Given the description of an element on the screen output the (x, y) to click on. 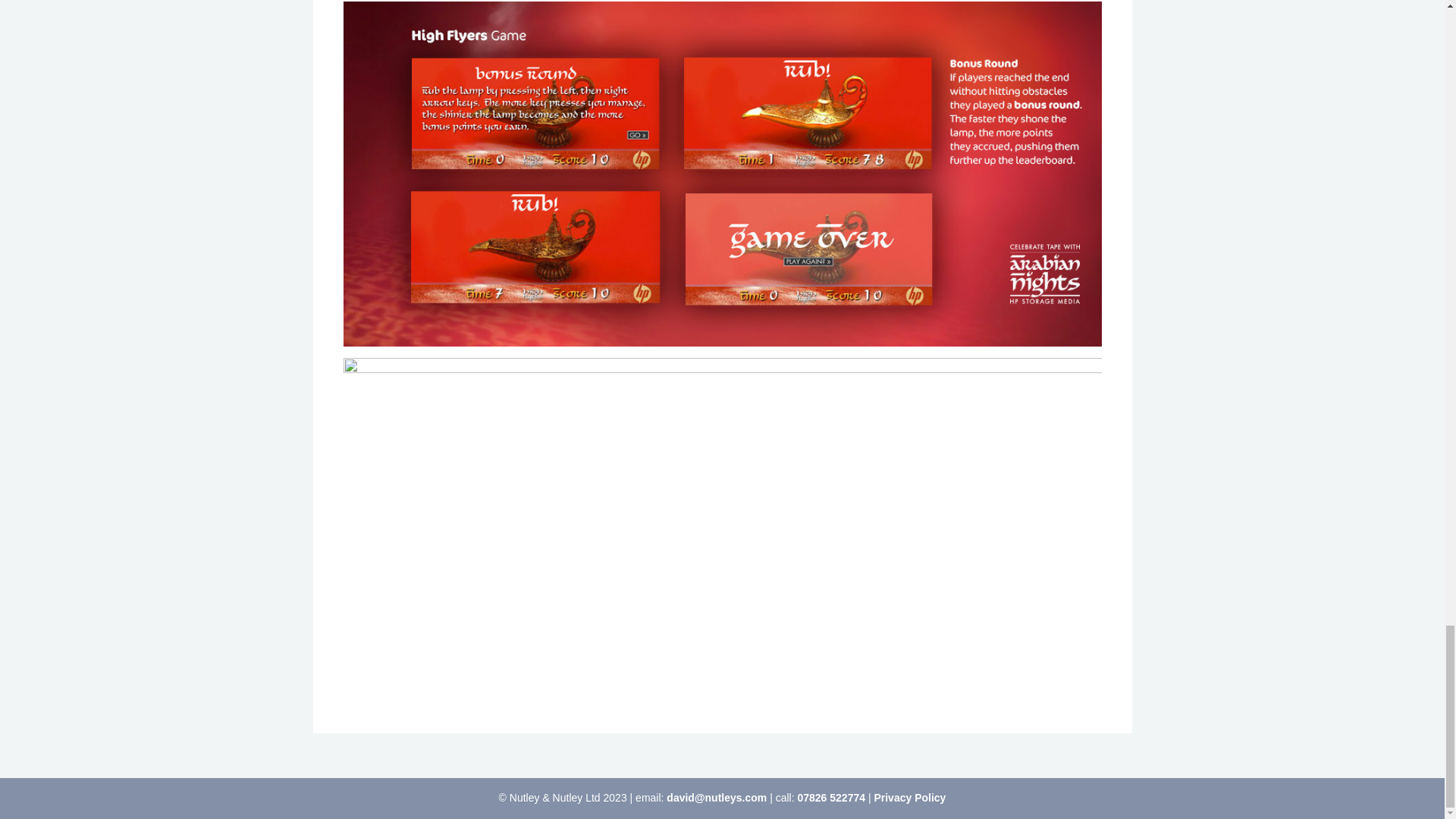
Privacy Policy (908, 797)
07826 522774 (830, 797)
